Given the description of an element on the screen output the (x, y) to click on. 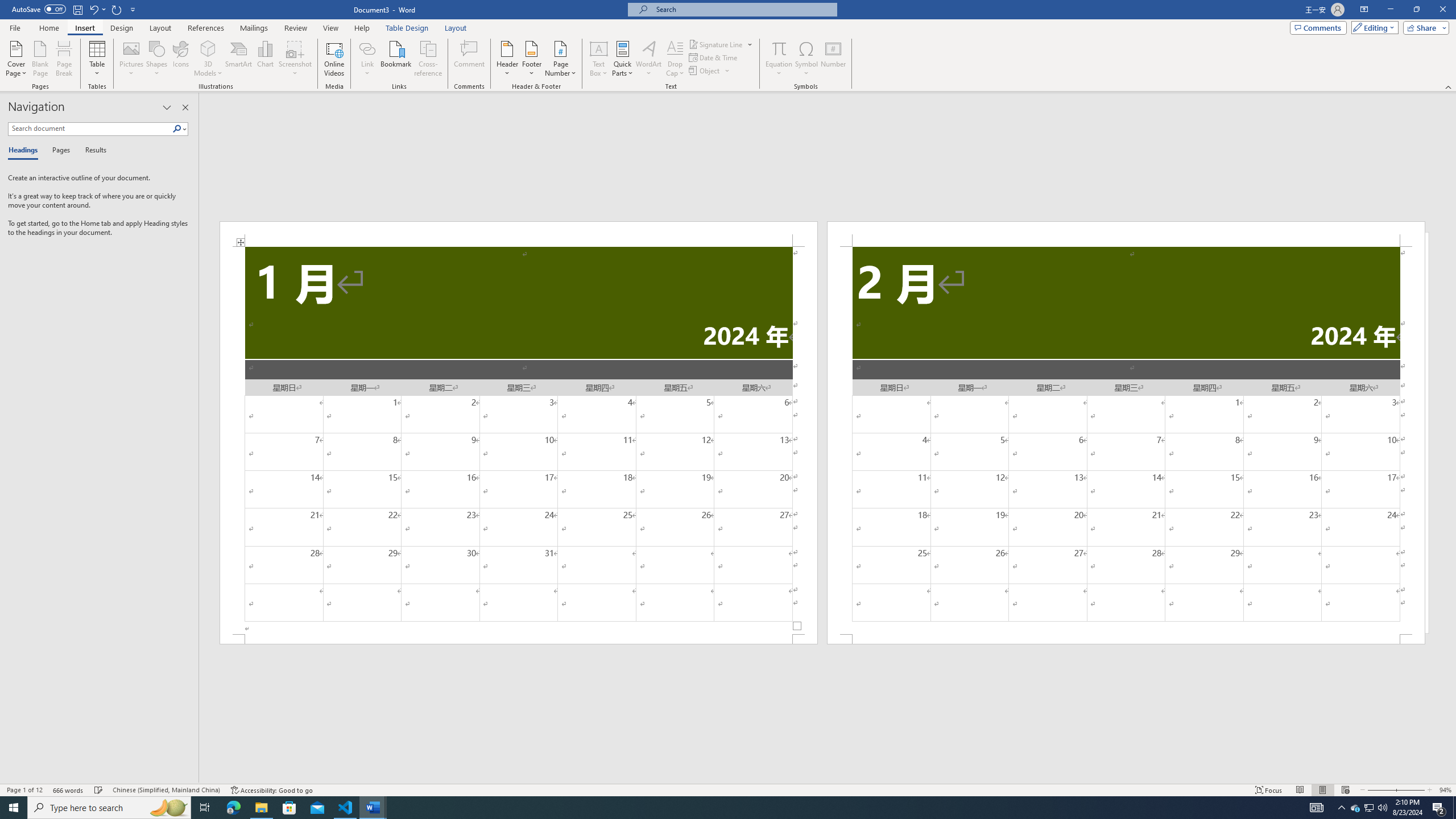
Page Number Page 1 of 12 (24, 790)
Header (507, 58)
Header -Section 2- (1126, 233)
Signature Line (721, 44)
Online Videos... (333, 58)
